Given the description of an element on the screen output the (x, y) to click on. 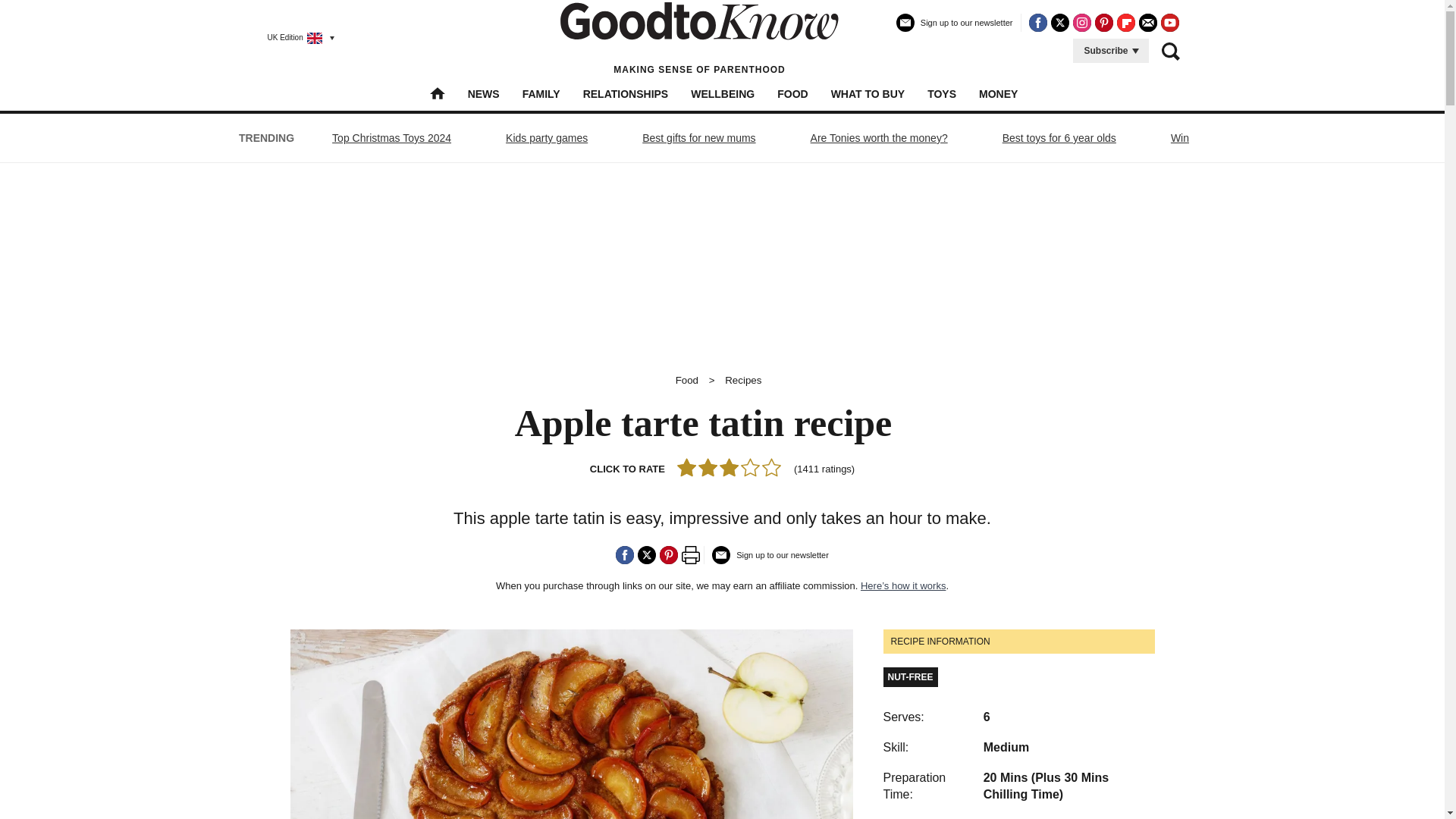
Recipes (743, 379)
Are Tonies worth the money? (879, 137)
WHAT TO BUY (867, 93)
MONEY (997, 93)
FOOD (792, 93)
MAKING SENSE OF PARENTHOOD (699, 38)
NEWS (483, 93)
RELATIONSHIPS (625, 93)
Top Christmas Toys 2024 (391, 137)
Kids party games (546, 137)
